Given the description of an element on the screen output the (x, y) to click on. 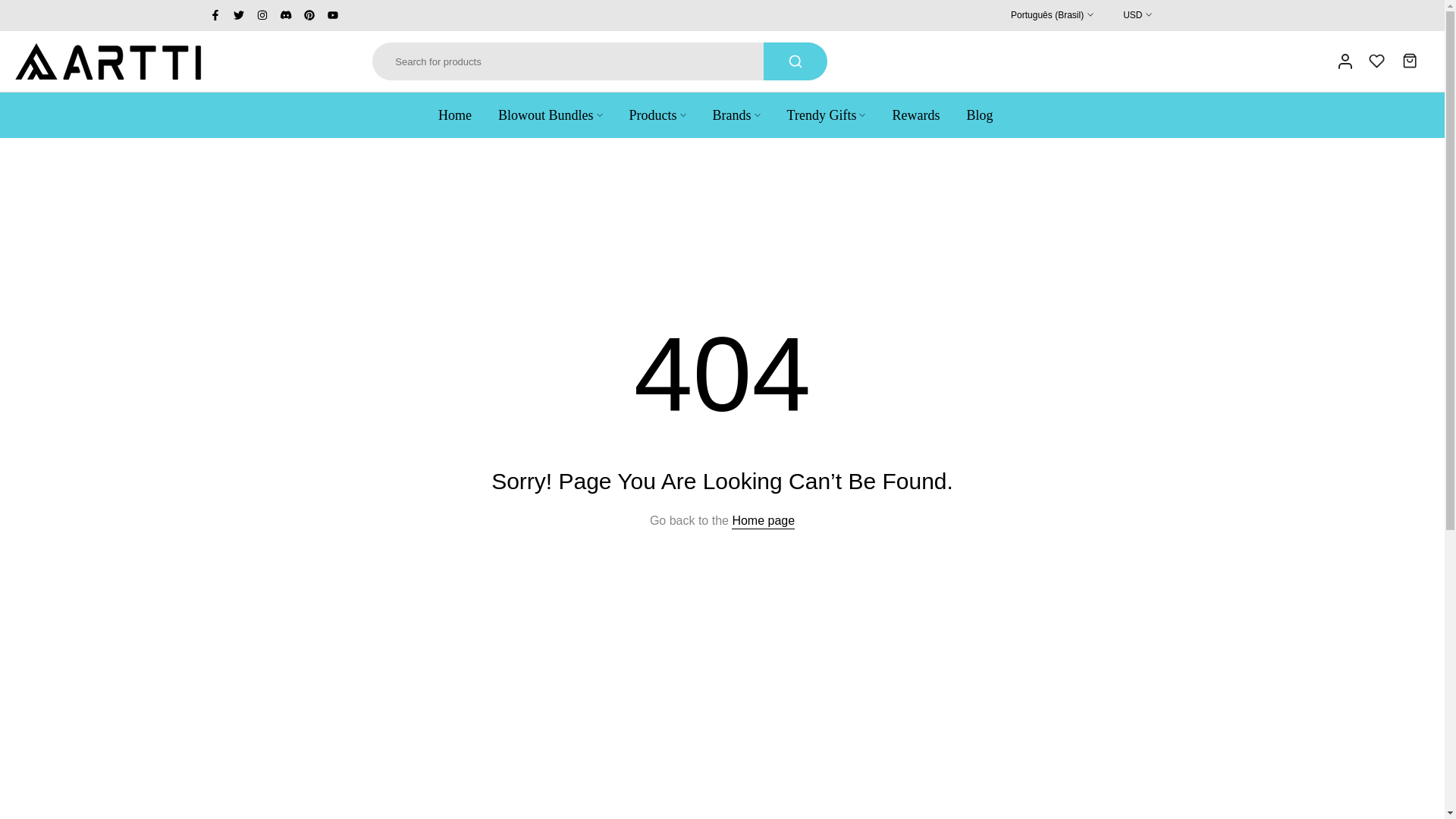
Follow on Facebook (215, 15)
Brands (735, 115)
Products (656, 115)
Trendy Gifts (826, 115)
Follow on Discord (285, 15)
Blowout Bundles (549, 115)
Follow on Twitter (238, 15)
Home page (763, 520)
Follow on Instagram (261, 15)
Home (461, 115)
